Given the description of an element on the screen output the (x, y) to click on. 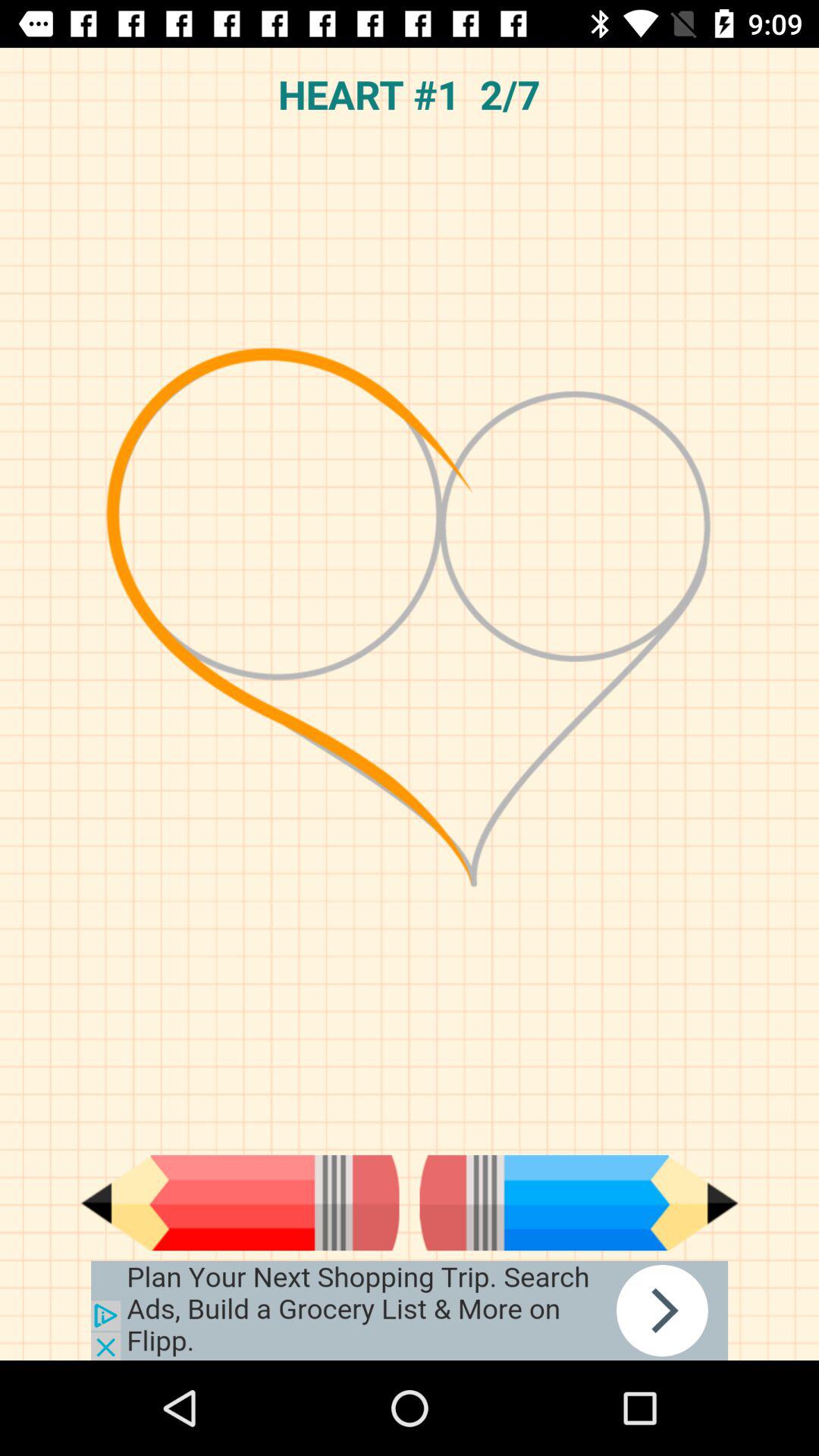
go forward (578, 1202)
